Given the description of an element on the screen output the (x, y) to click on. 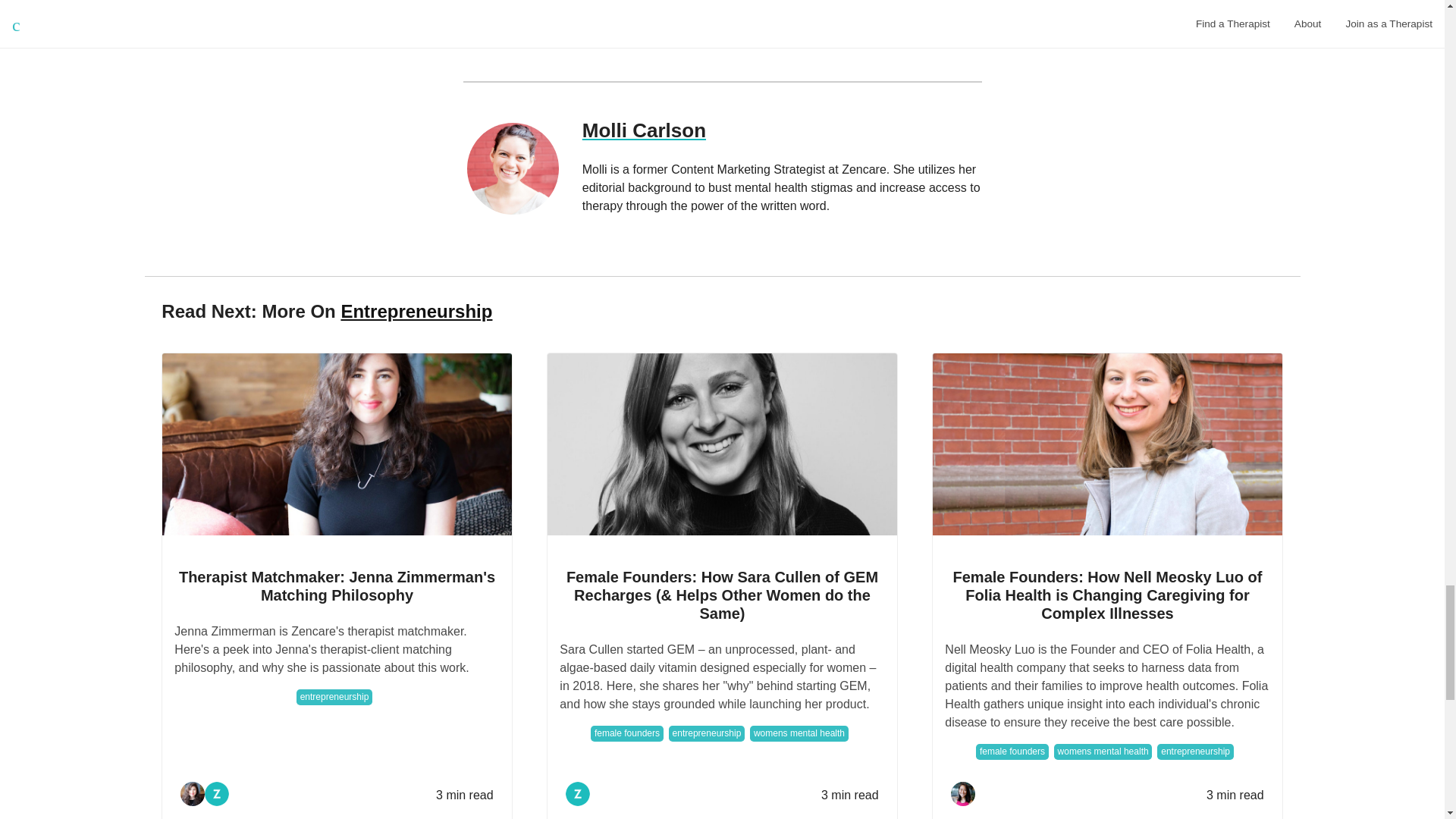
womens mental health (1103, 751)
female founders (627, 733)
Molli Carlson (512, 168)
Jenna Zimmerman (192, 795)
Molli Carlson (781, 130)
entrepreneurship (706, 733)
entrepreneurship (1195, 751)
Yuri Tomikawa (962, 793)
Entrepreneurship (416, 311)
